Given the description of an element on the screen output the (x, y) to click on. 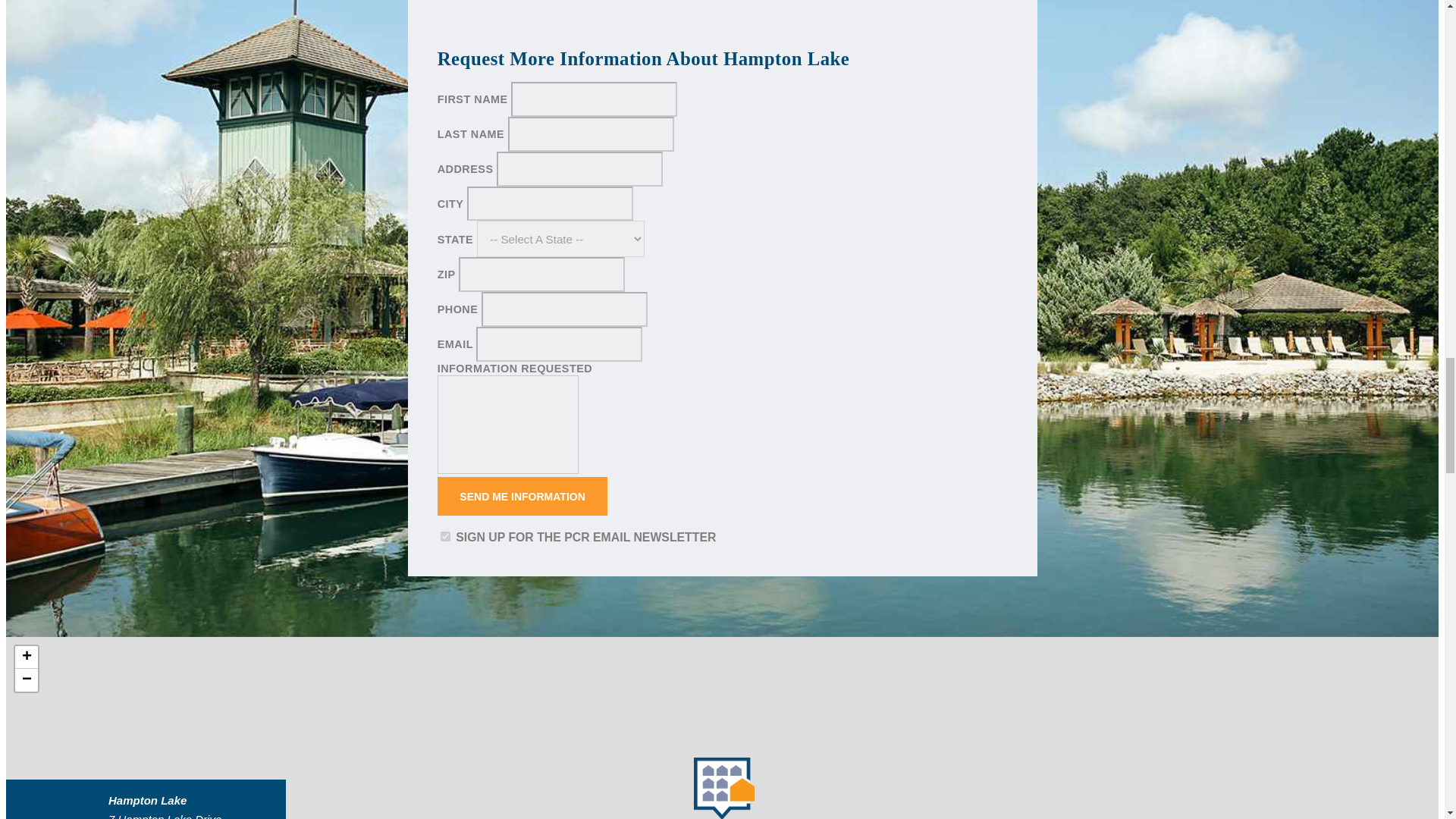
Zoom out (25, 680)
Zoom in (25, 657)
1 (445, 536)
